Given the description of an element on the screen output the (x, y) to click on. 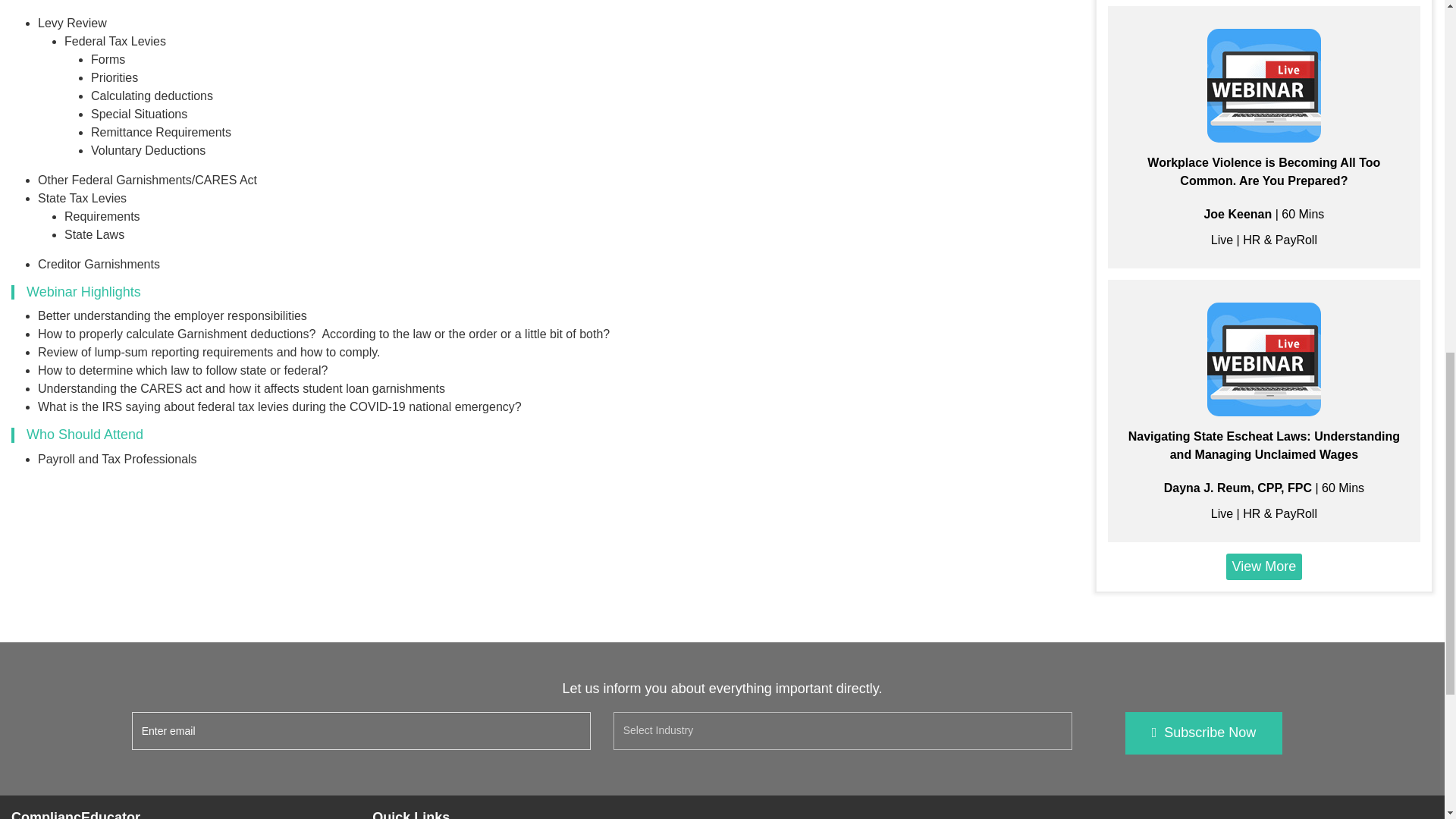
View More (1264, 566)
